Given the description of an element on the screen output the (x, y) to click on. 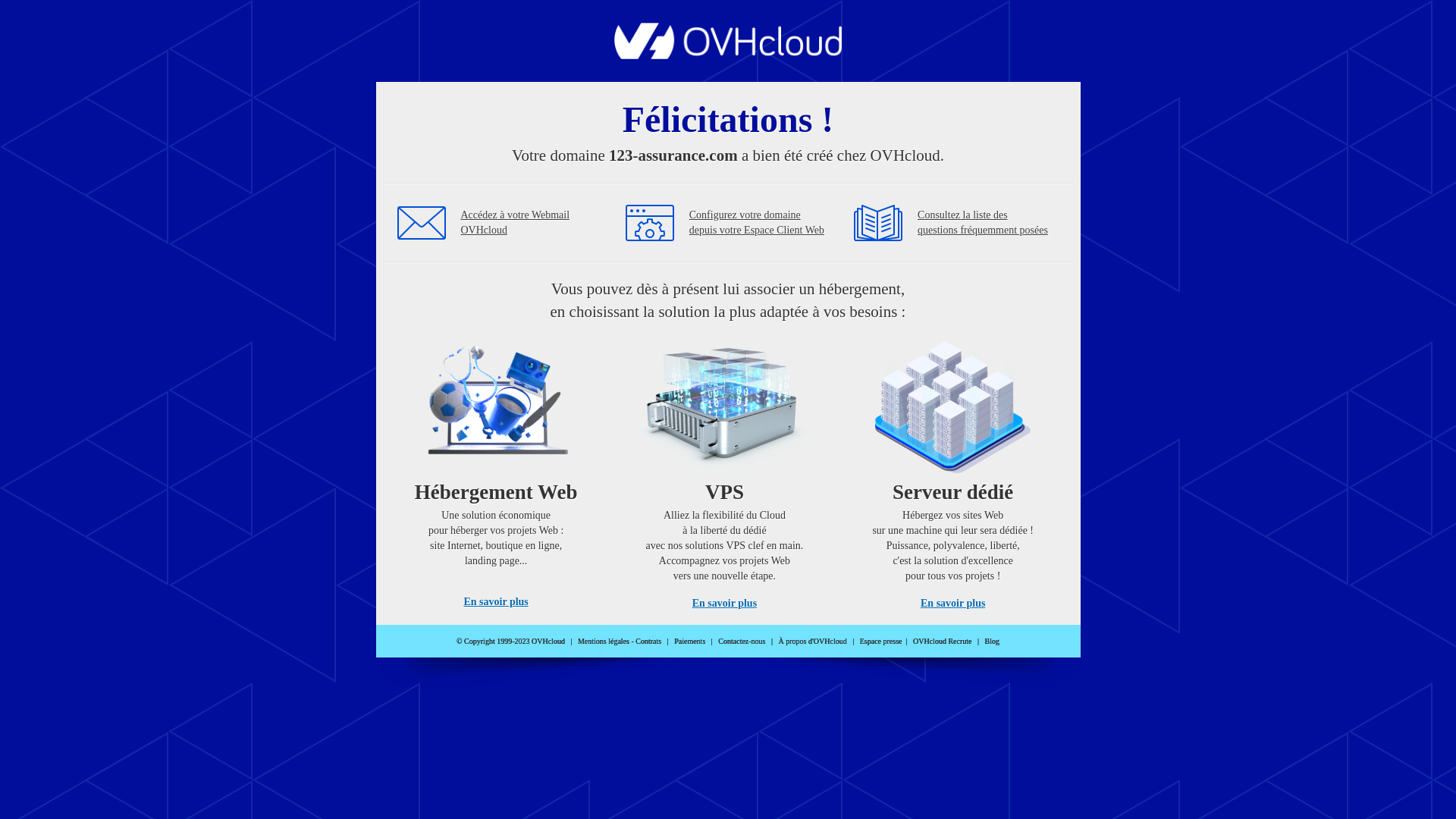
Espace presse Element type: text (880, 641)
Blog Element type: text (992, 641)
En savoir plus Element type: text (952, 602)
Contactez-nous Element type: text (741, 641)
Configurez votre domaine
depuis votre Espace Client Web Element type: text (756, 222)
En savoir plus Element type: text (495, 601)
En savoir plus Element type: text (724, 602)
OVHcloud Recrute Element type: text (942, 641)
VPS Element type: hover (724, 469)
OVHcloud Element type: hover (727, 54)
Paiements Element type: text (689, 641)
